Given the description of an element on the screen output the (x, y) to click on. 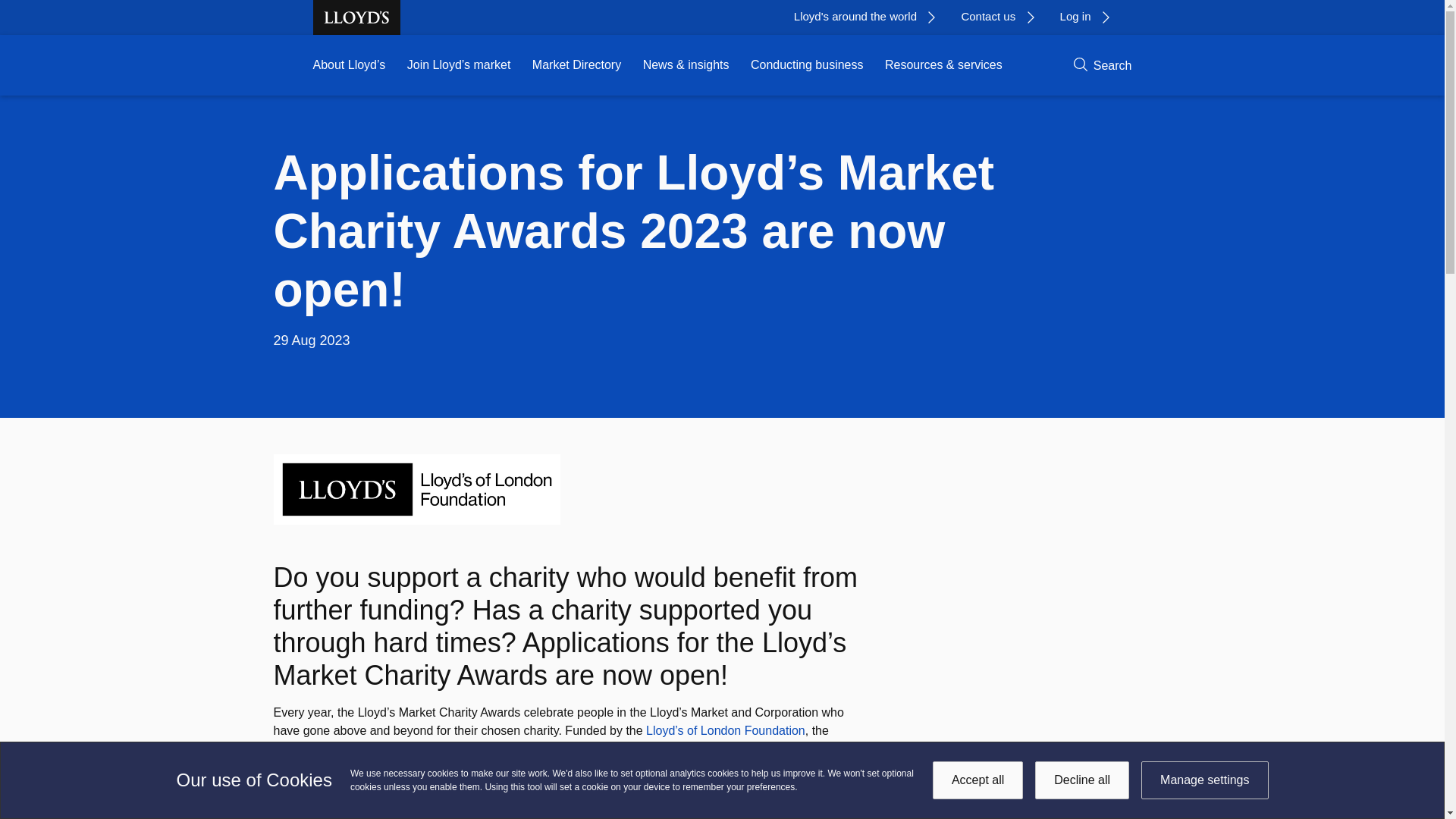
Contact us (1002, 17)
Market Directory (576, 65)
Lloyd's around the world (869, 17)
Log in (1090, 17)
